Given the description of an element on the screen output the (x, y) to click on. 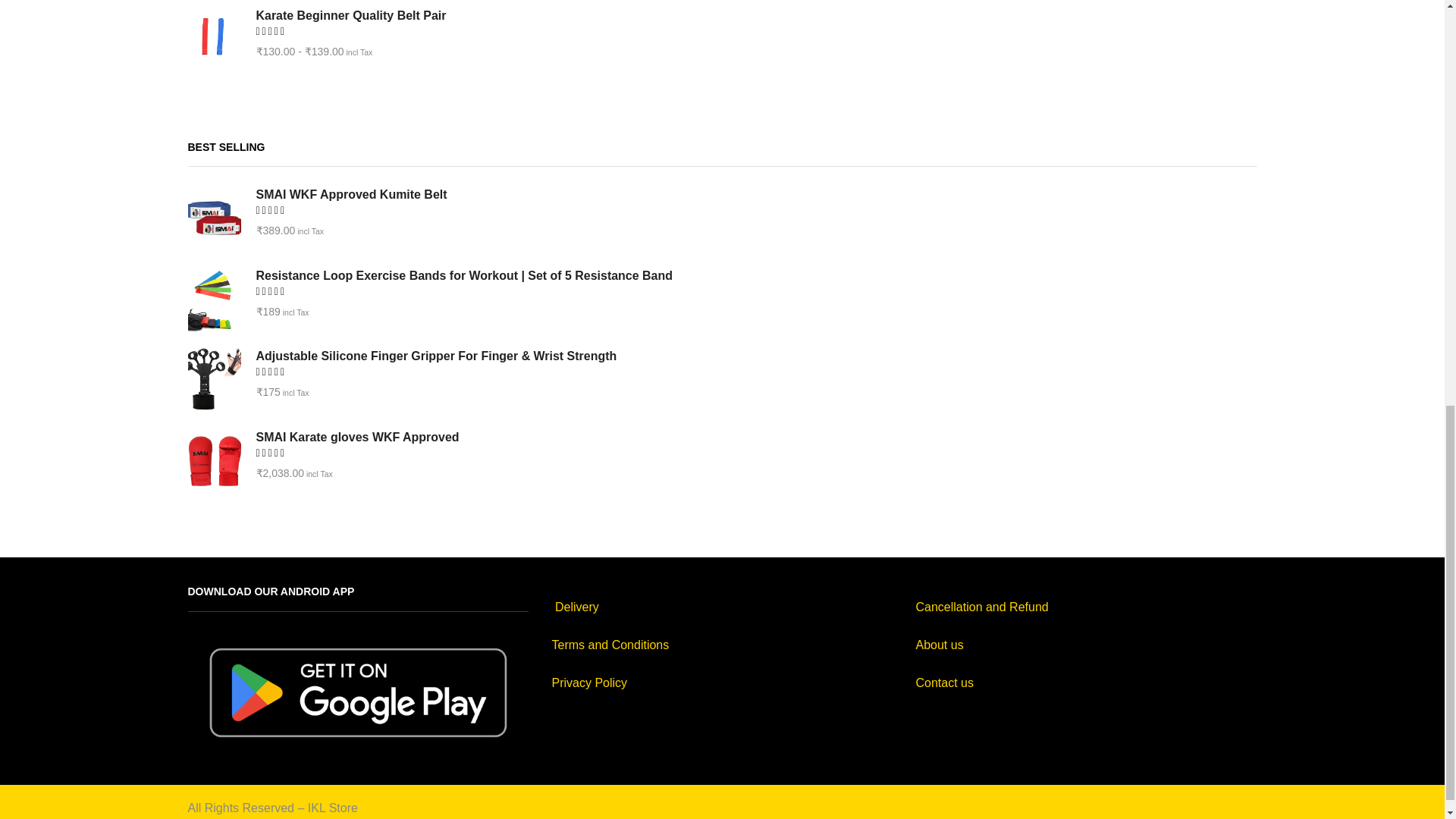
SMAI WKF Approved Kumite Belt (214, 218)
Karate Beginner Quality Belt Pair (214, 39)
Karate Beginner Quality Belt Pair (747, 15)
SMAI WKF Approved Kumite Belt (747, 194)
